Given the description of an element on the screen output the (x, y) to click on. 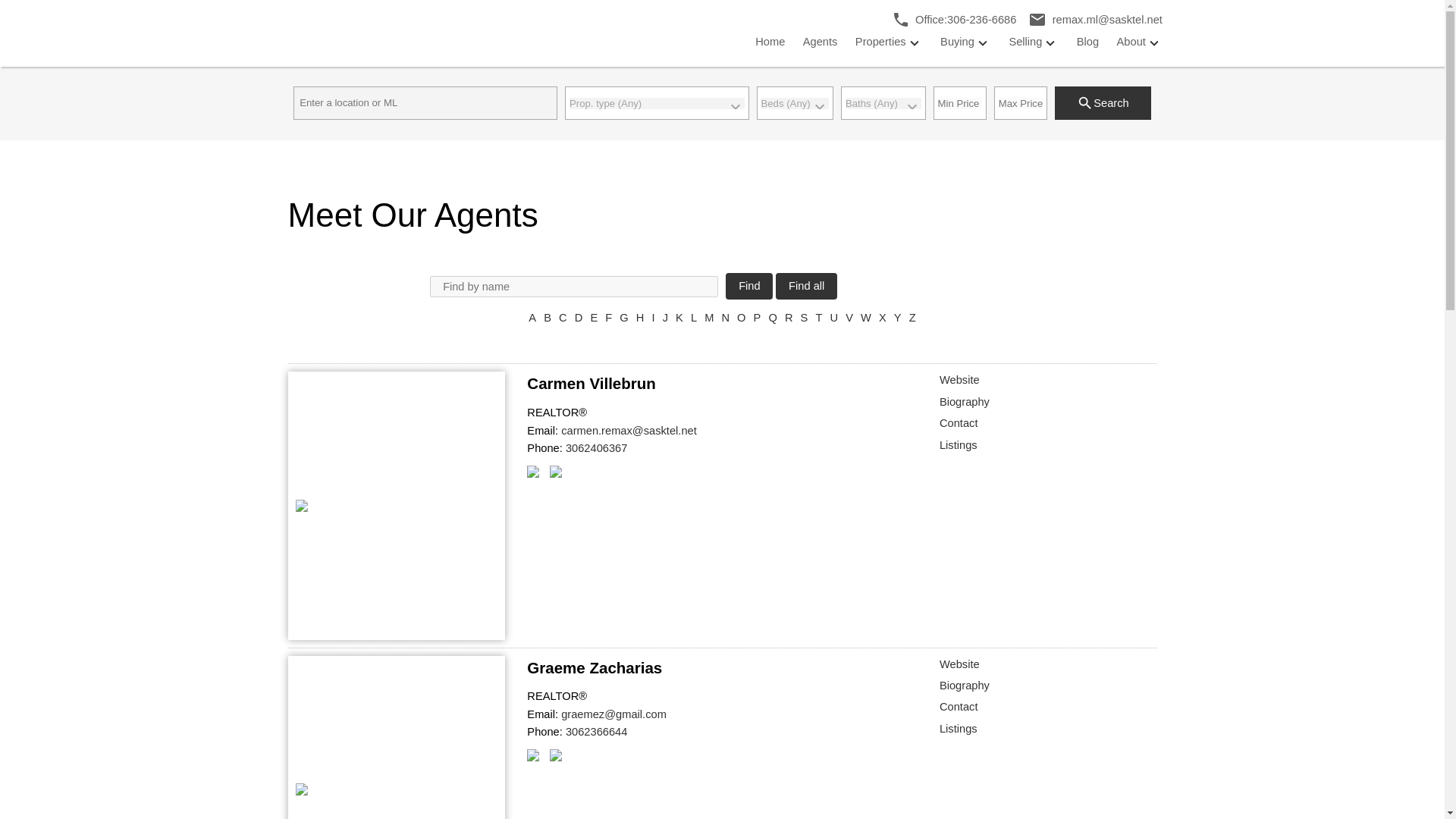
Search (1102, 102)
Blog (1088, 41)
Agents (820, 41)
Find all (806, 285)
Find (749, 285)
Home (769, 41)
